Given the description of an element on the screen output the (x, y) to click on. 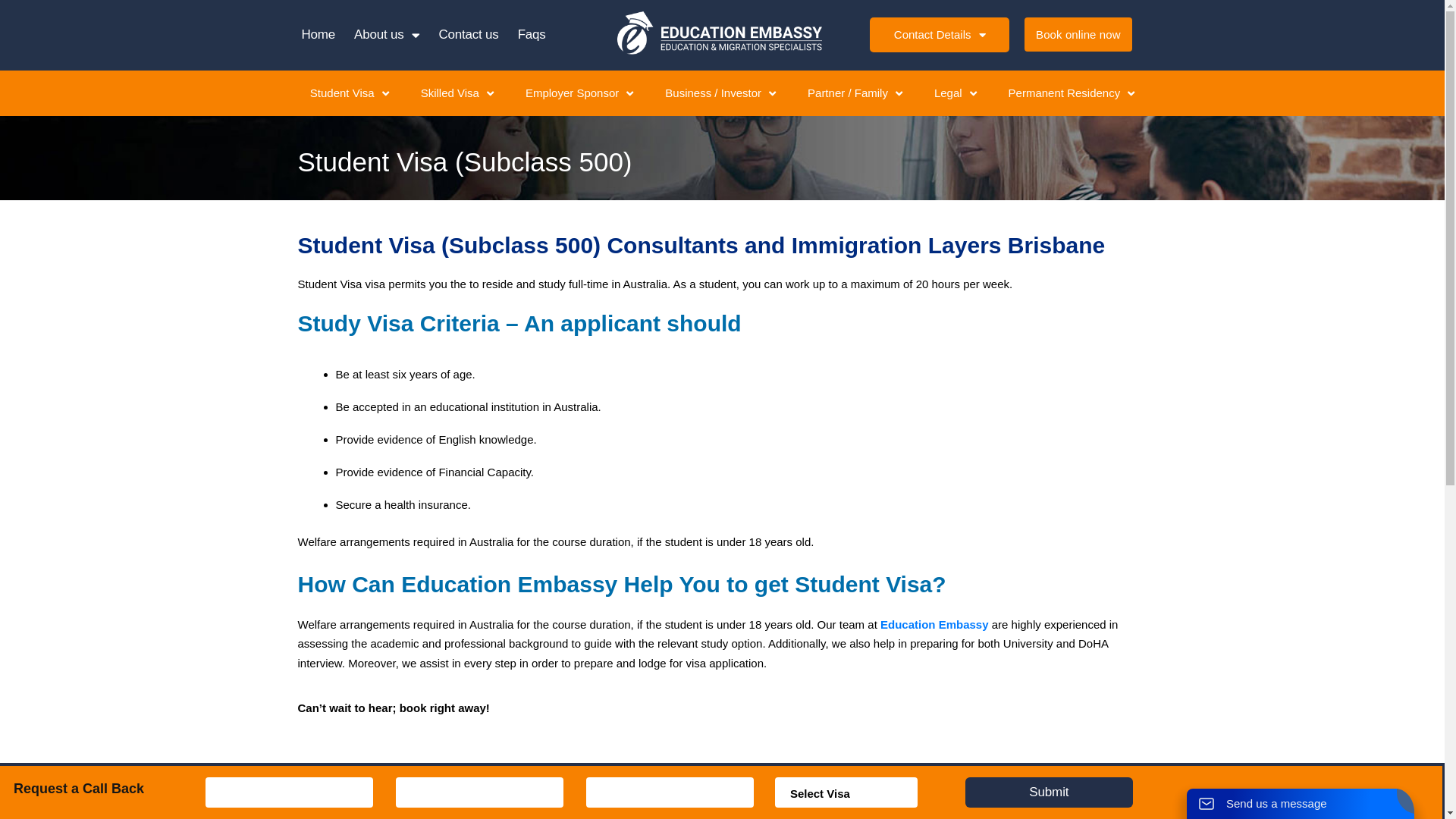
Faqs Element type: text (531, 34)
Contact us Element type: text (468, 34)
Skilled Visa Element type: text (456, 93)
Partner / Family Element type: text (854, 93)
Legal Element type: text (955, 93)
Student Visa Element type: text (349, 93)
Business / Investor Element type: text (719, 93)
Employer Sponsor Element type: text (579, 93)
Book online now Element type: text (1078, 34)
Permanent Residency Element type: text (1071, 93)
About us Element type: text (386, 34)
Home Element type: text (317, 34)
Submit Element type: text (1048, 792)
Education Embassy Element type: text (934, 624)
Contact Details Element type: text (939, 34)
